Given the description of an element on the screen output the (x, y) to click on. 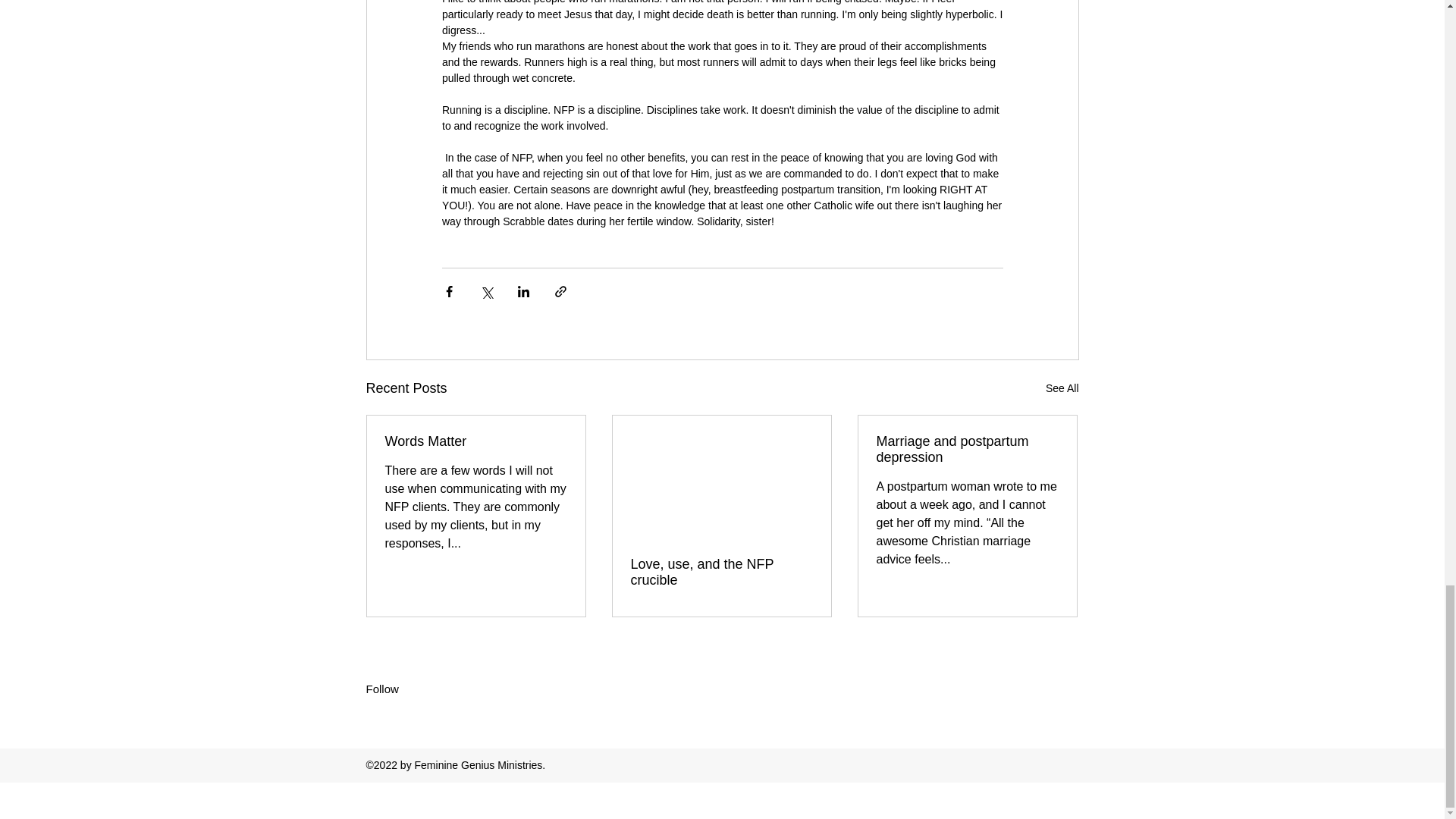
See All (1061, 388)
Marriage and postpartum depression (967, 450)
Love, use, and the NFP crucible (721, 572)
Words Matter (476, 441)
